Given the description of an element on the screen output the (x, y) to click on. 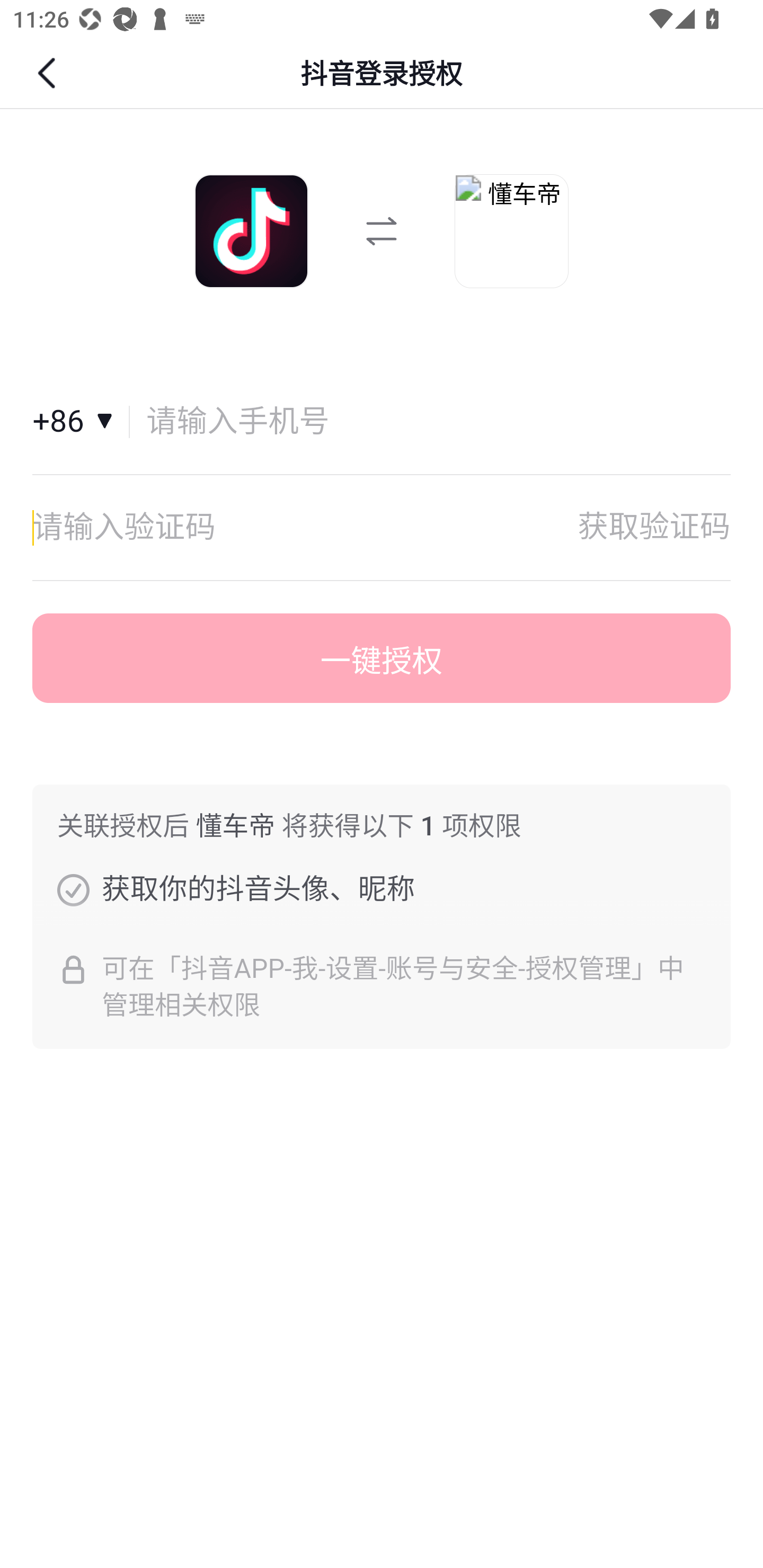
返回 (49, 72)
国家和地区+86 (81, 421)
获取验证码 (653, 526)
一键授权 (381, 658)
获取你的抖音头像、昵称 (72, 889)
